Given the description of an element on the screen output the (x, y) to click on. 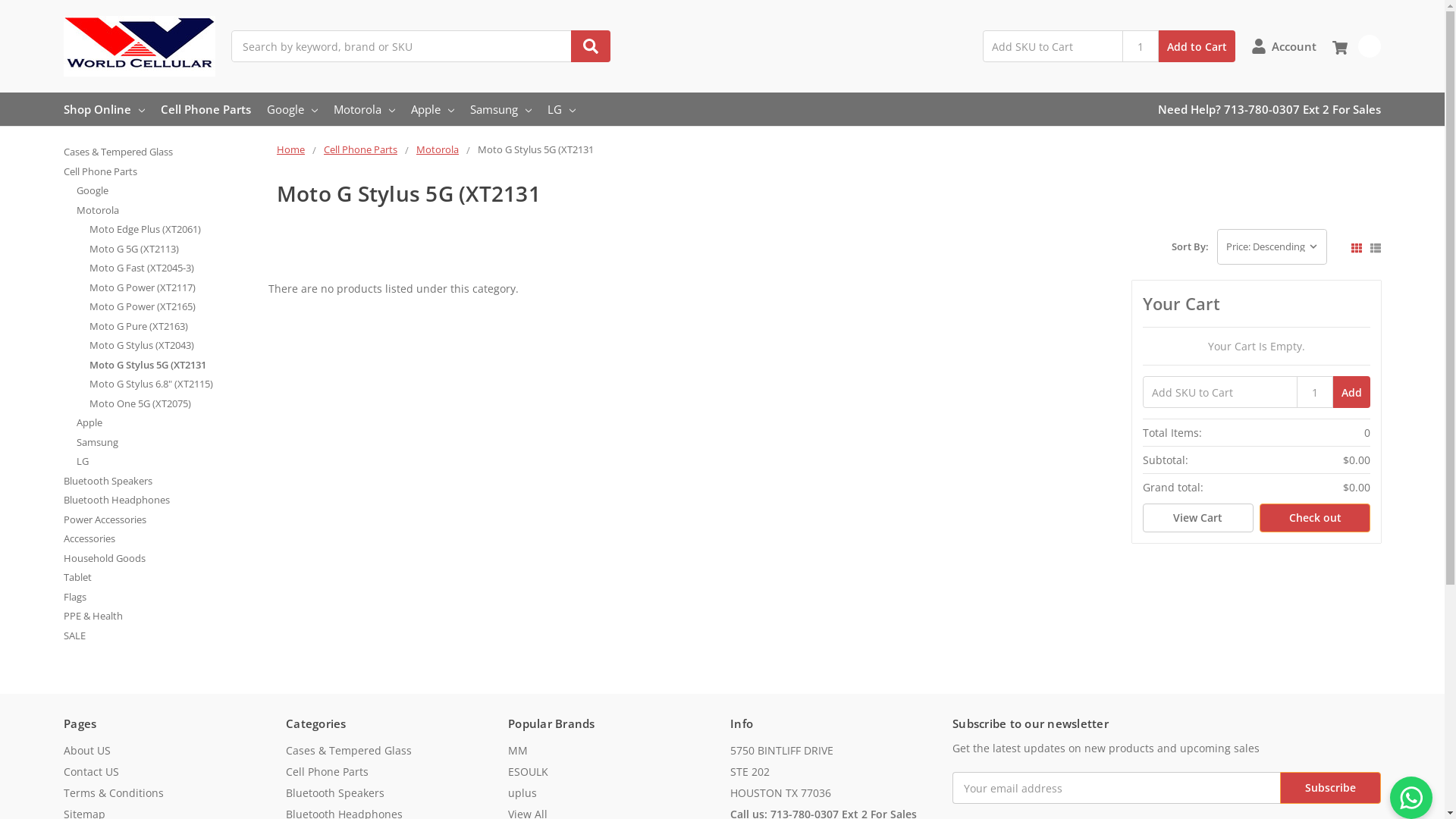
SALE Element type: text (161, 636)
0 Element type: text (1356, 45)
Add to Cart Element type: text (1196, 46)
Motorola Element type: text (168, 210)
Flags Element type: text (161, 597)
Account Element type: text (1283, 45)
Household Goods Element type: text (161, 558)
Tablet Element type: text (161, 577)
Bluetooth Speakers Element type: text (334, 792)
Apple Element type: text (432, 108)
View Cart Element type: text (1197, 517)
Motorola Element type: text (364, 108)
MM Element type: text (517, 750)
Google Element type: text (291, 108)
Bluetooth Speakers Element type: text (161, 481)
Accessories Element type: text (161, 539)
Google Element type: text (168, 190)
Cell Phone Parts Element type: text (161, 172)
Samsung Element type: text (500, 108)
Moto G Power (XT2165) Element type: text (174, 306)
Subscribe Element type: text (1330, 787)
Contact US Element type: text (91, 771)
Moto G Pure (XT2163) Element type: text (174, 326)
Need Help? 713-780-0307 Ext 2 For Sales Element type: text (1268, 108)
LG Element type: text (168, 461)
Cases & Tempered Glass Element type: text (161, 152)
Moto G Fast (XT2045-3) Element type: text (174, 268)
Shop Online Element type: text (103, 108)
Power Accessories Element type: text (161, 520)
Bluetooth Headphones Element type: text (161, 500)
Apple Element type: text (168, 423)
Cell Phone Parts Element type: text (360, 149)
ESOULK Element type: text (528, 771)
Moto G Stylus (XT2043) Element type: text (174, 345)
WORLD CELLULAR Element type: hover (139, 45)
About US Element type: text (86, 750)
Samsung Element type: text (168, 442)
uplus Element type: text (522, 792)
Cases & Tempered Glass Element type: text (348, 750)
Terms & Conditions Element type: text (113, 792)
Cell Phone Parts Element type: text (326, 771)
PPE & Health Element type: text (161, 616)
Moto G 5G (XT2113) Element type: text (174, 249)
Cell Phone Parts Element type: text (205, 108)
Motorola Element type: text (437, 149)
Add Element type: text (1351, 391)
Check out Element type: text (1314, 517)
Moto G Stylus 5G (XT2131 Element type: text (174, 365)
Home Element type: text (290, 149)
Moto Edge Plus (XT2061) Element type: text (174, 229)
Moto G Power (XT2117) Element type: text (174, 288)
LG Element type: text (561, 108)
Moto G Stylus 6.8" (XT2115) Element type: text (174, 384)
Moto One 5G (XT2075) Element type: text (174, 404)
